Given the description of an element on the screen output the (x, y) to click on. 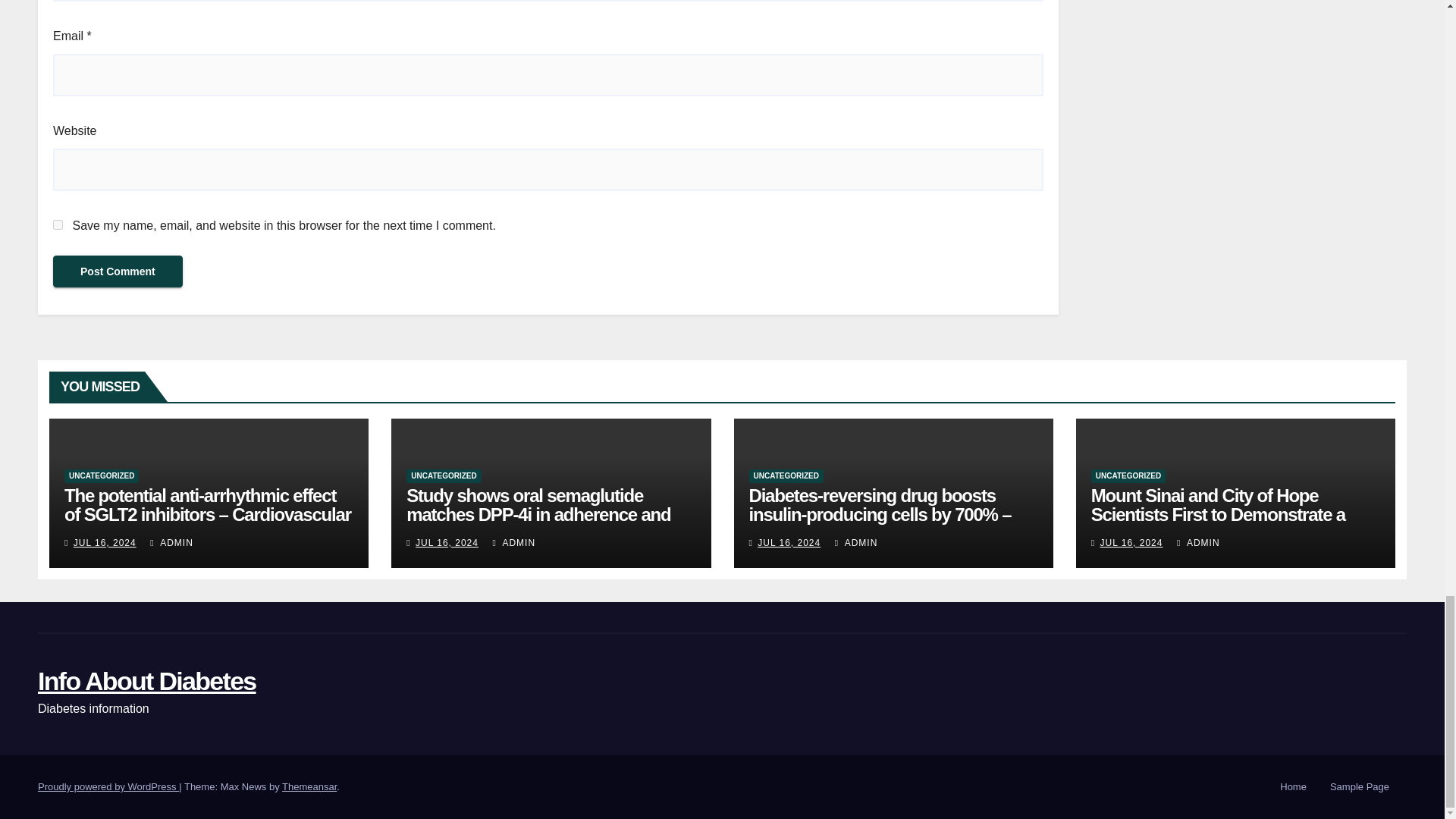
Post Comment (117, 271)
Home (1293, 786)
yes (57, 225)
